Given the description of an element on the screen output the (x, y) to click on. 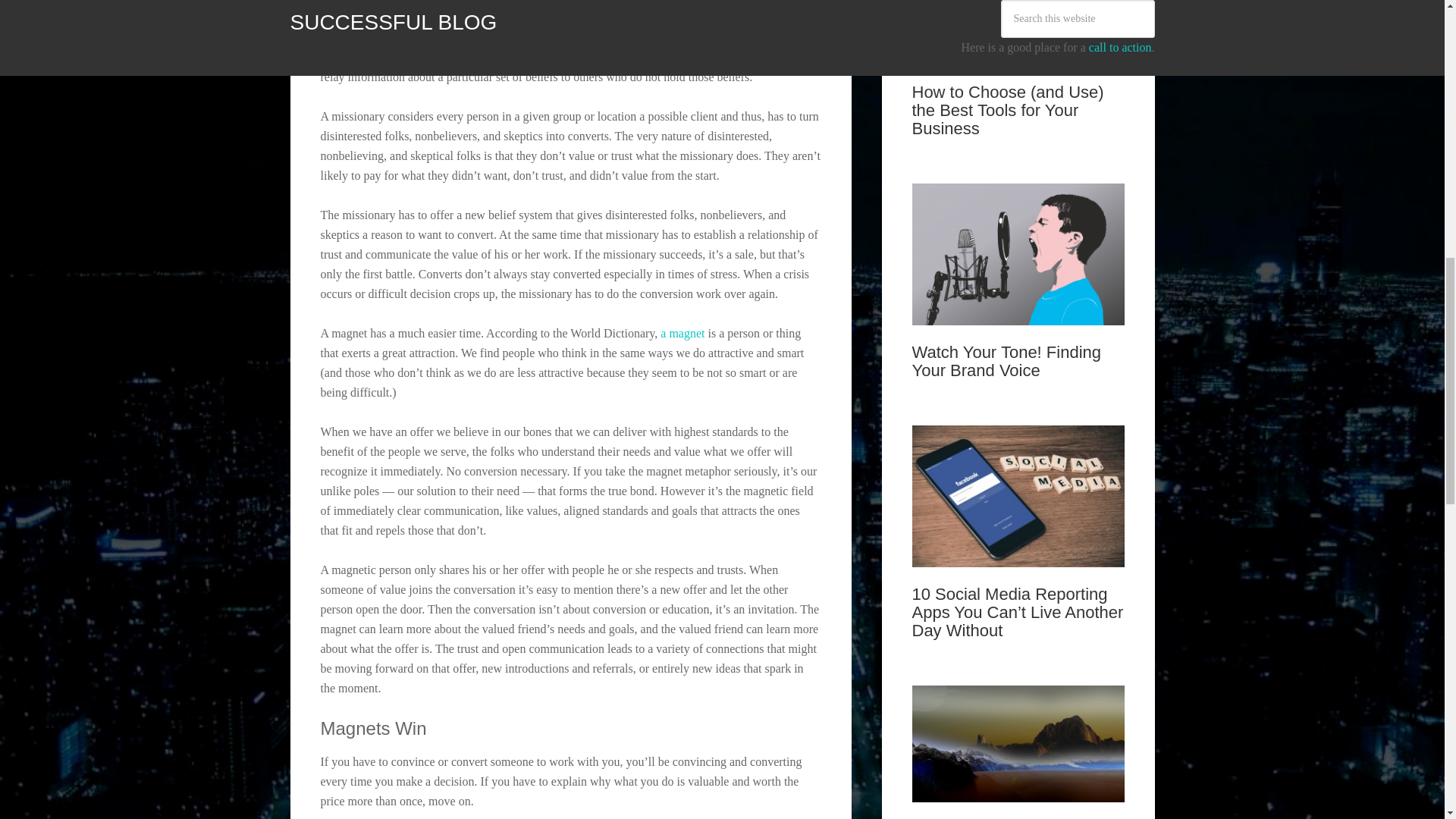
a missionary is (503, 37)
evangelize, (769, 56)
a magnet (682, 332)
